Given the description of an element on the screen output the (x, y) to click on. 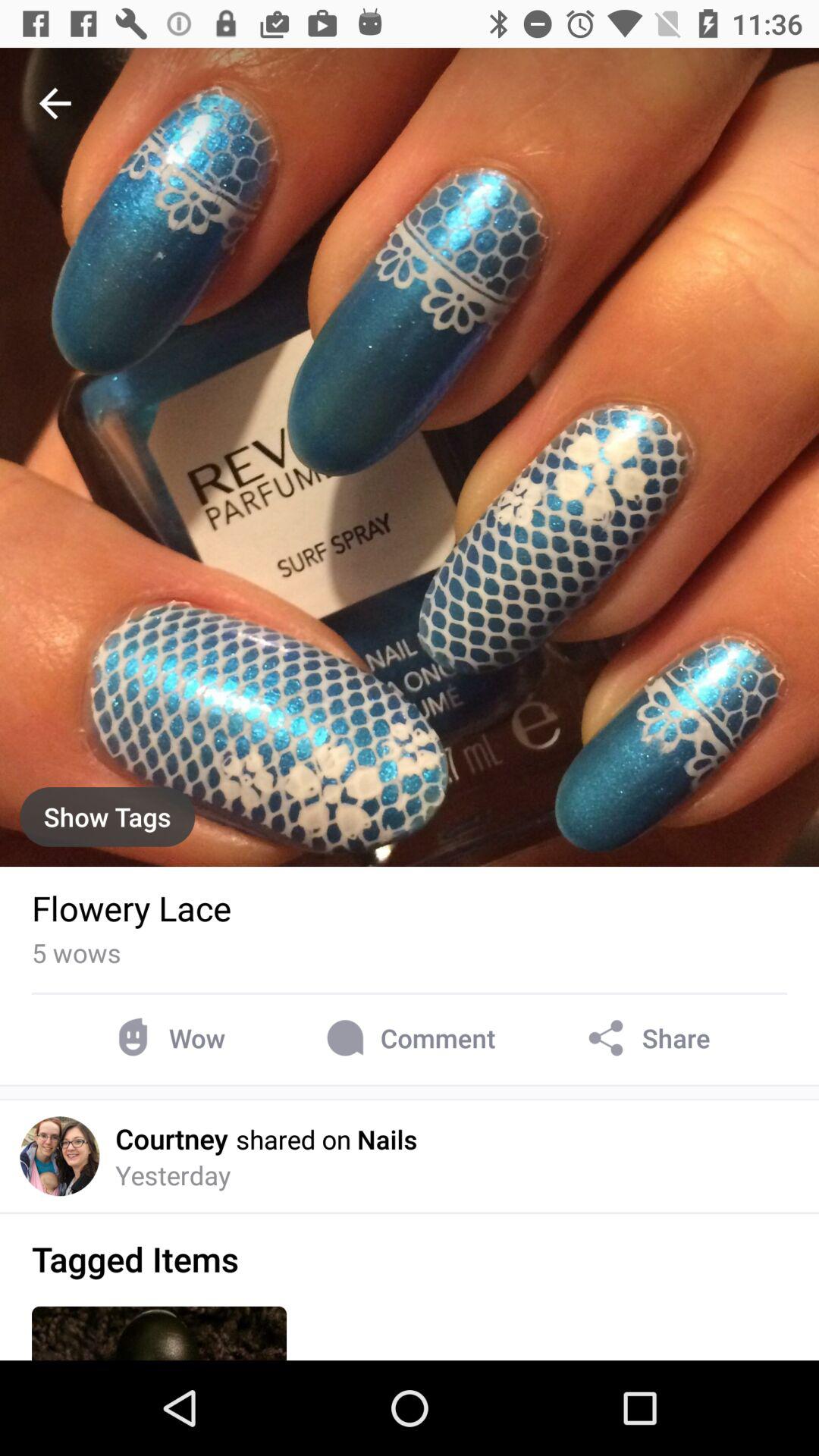
tap wow icon (166, 1038)
